Given the description of an element on the screen output the (x, y) to click on. 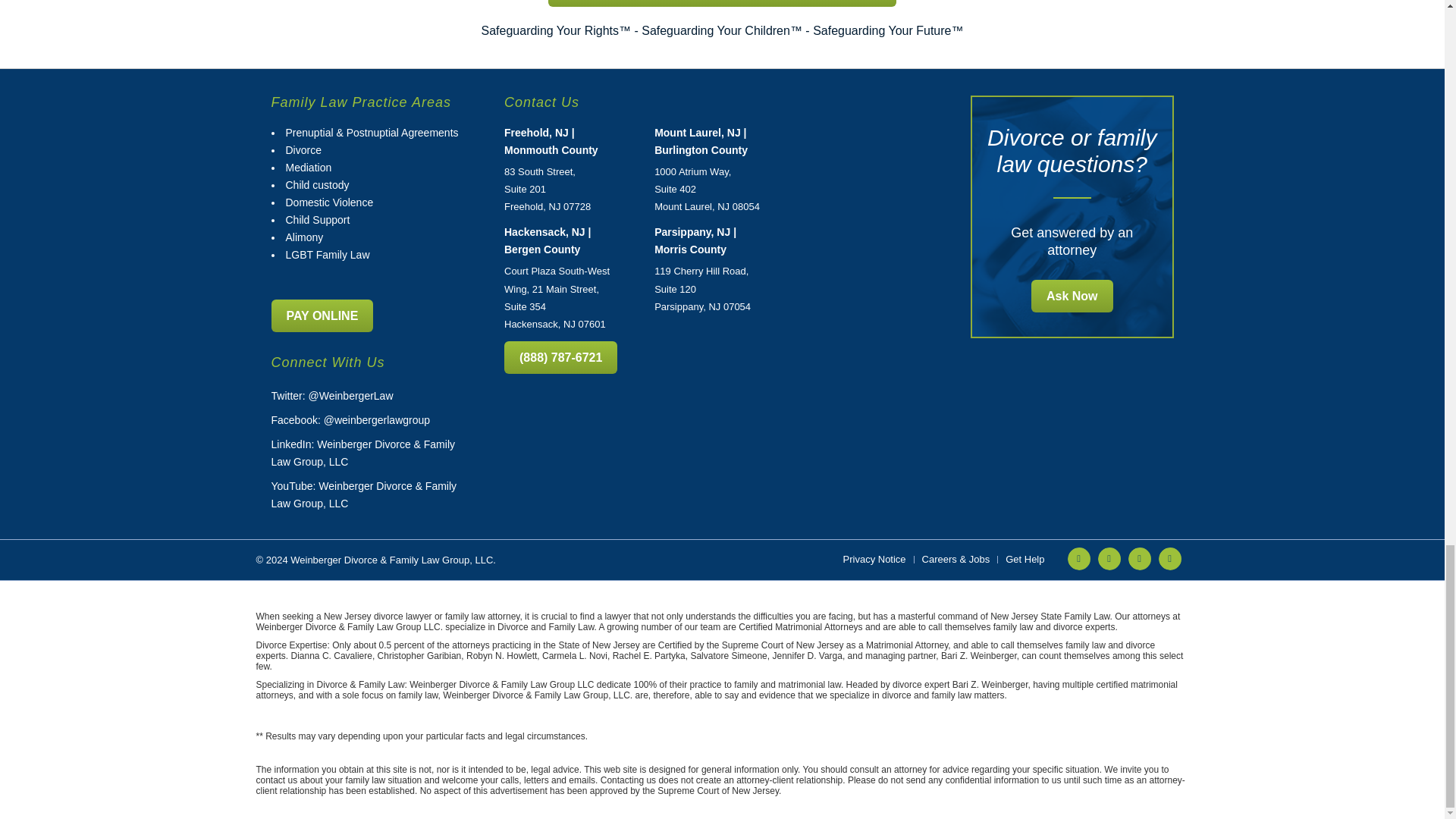
LinkedIn (1109, 558)
Twitter (1078, 558)
